Given the description of an element on the screen output the (x, y) to click on. 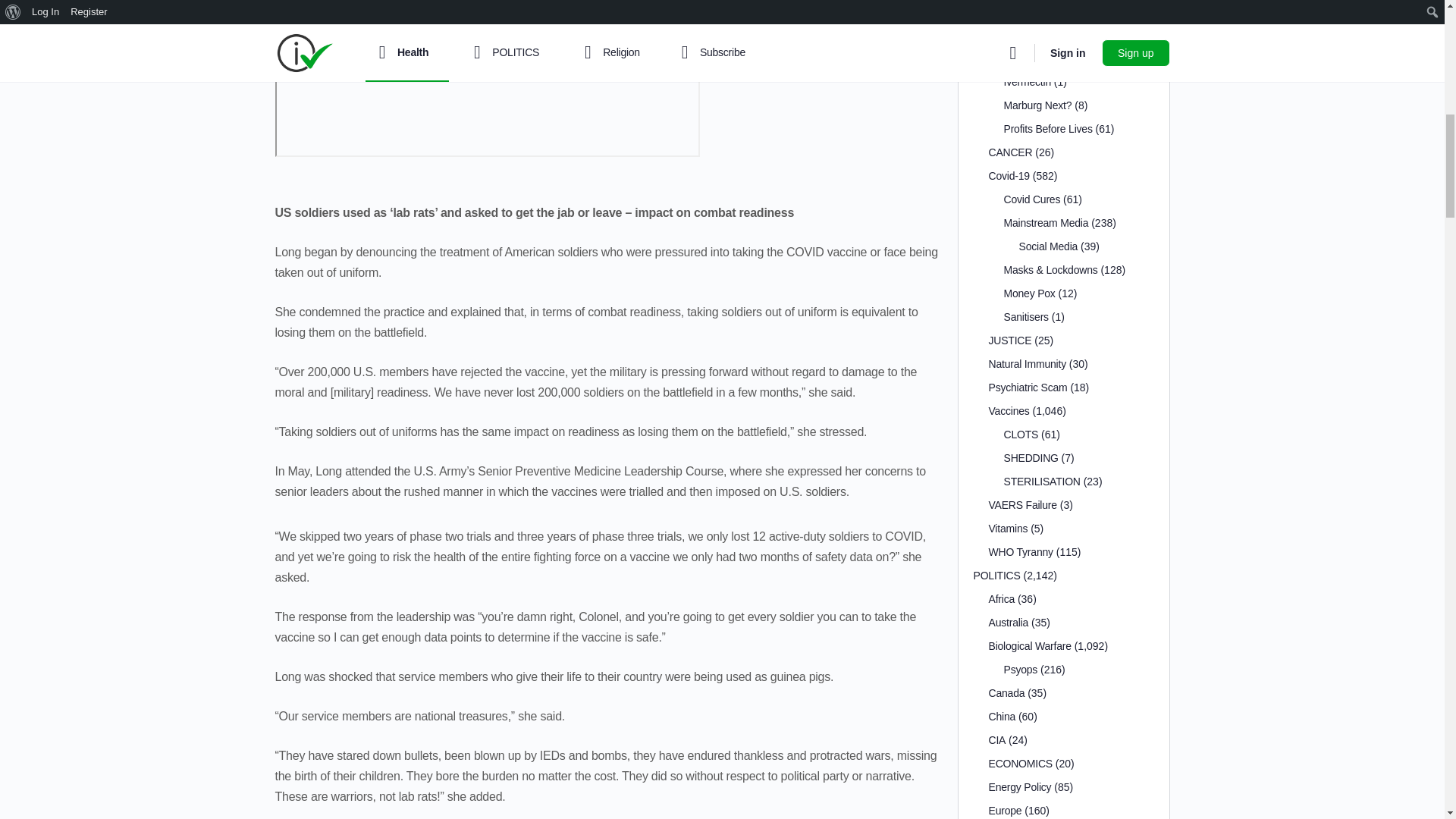
YouTube video player (486, 78)
